Given the description of an element on the screen output the (x, y) to click on. 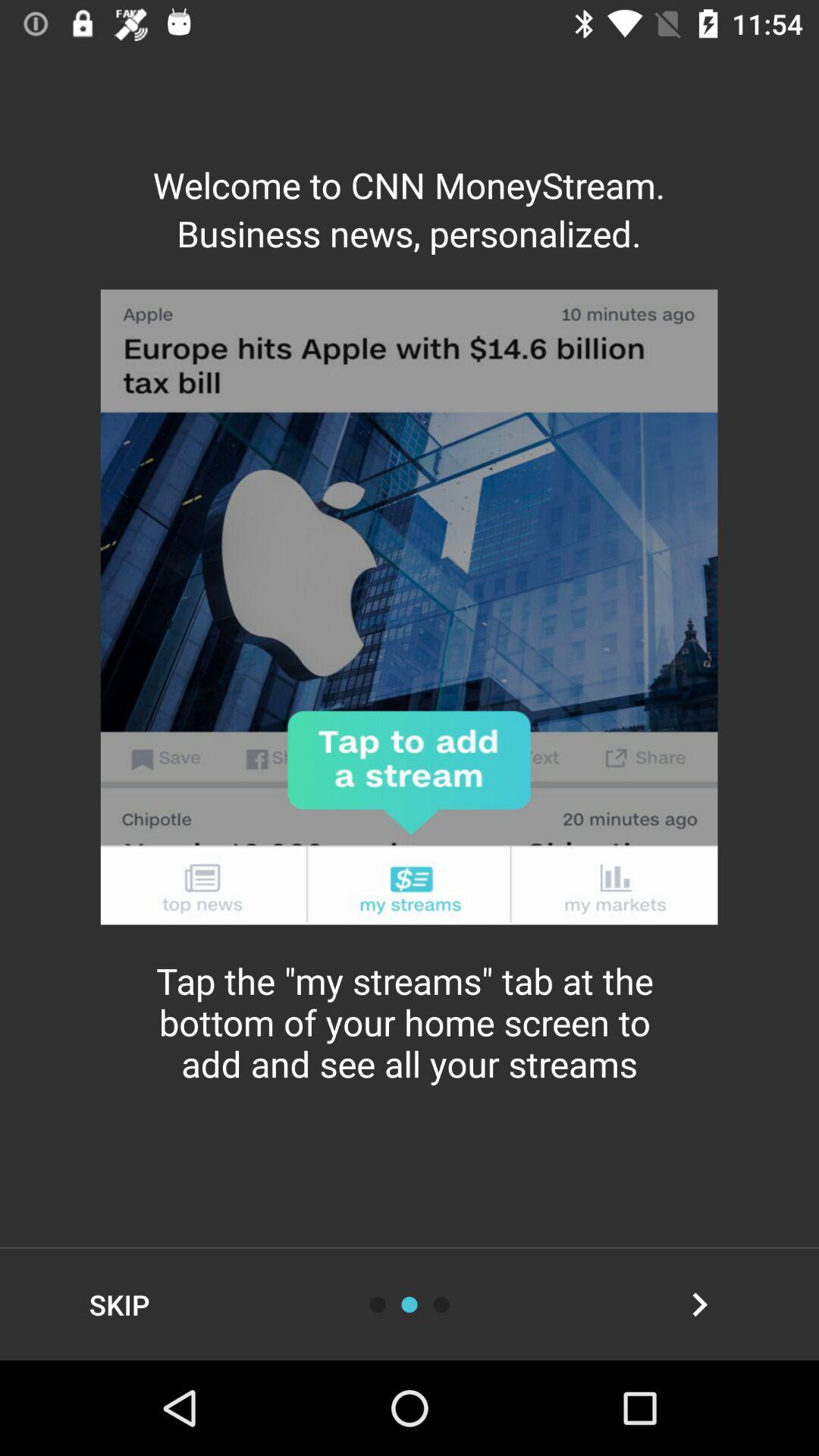
advance option (441, 1304)
